Given the description of an element on the screen output the (x, y) to click on. 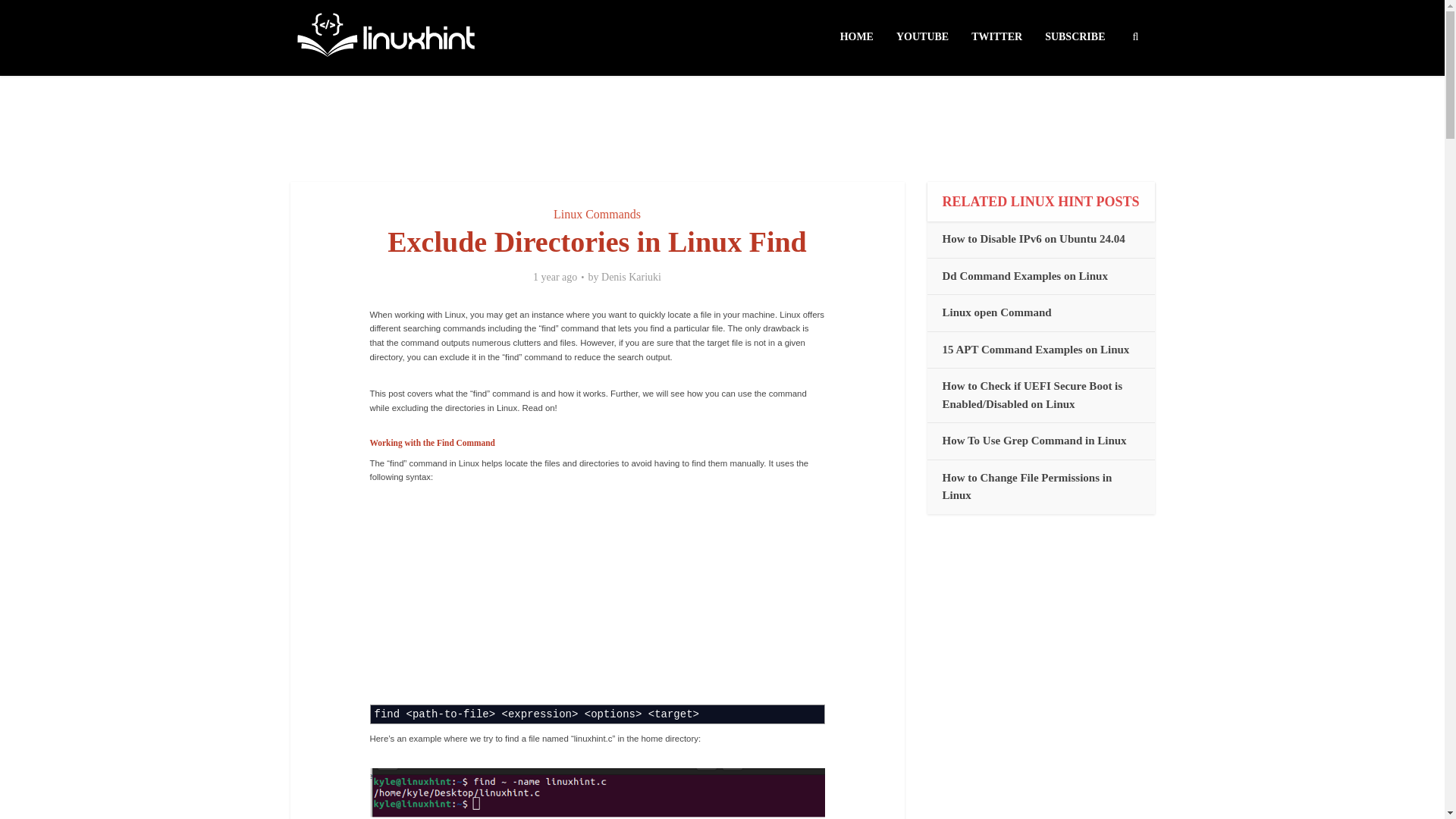
15 APT Command Examples on Linux (1035, 349)
TWITTER (996, 37)
SUBSCRIBE (1074, 37)
How to Change File Permissions in Linux (1027, 486)
How to Change File Permissions in Linux (1027, 486)
Linux open Command (996, 312)
How to Disable IPv6 on Ubuntu 24.04 (1033, 238)
Dd Command Examples on Linux (1024, 275)
How To Use Grep Command in Linux (1033, 440)
How To Use Grep Command in Linux (1033, 440)
